Given the description of an element on the screen output the (x, y) to click on. 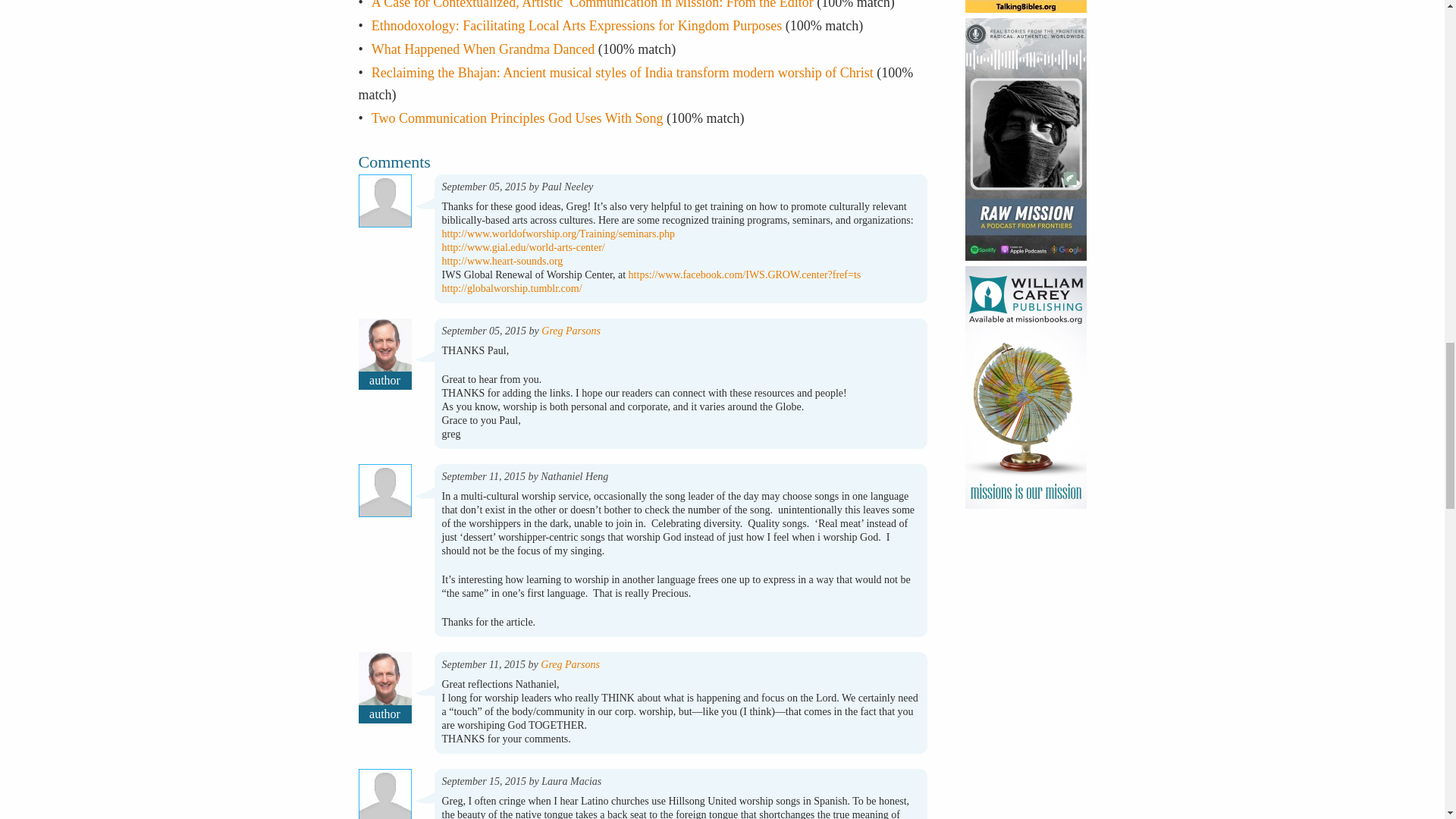
Greg Parsons (569, 664)
Greg Parsons (570, 330)
What Happened When Grandma Danced (483, 48)
Two Communication Principles God Uses With Song (517, 118)
